Given the description of an element on the screen output the (x, y) to click on. 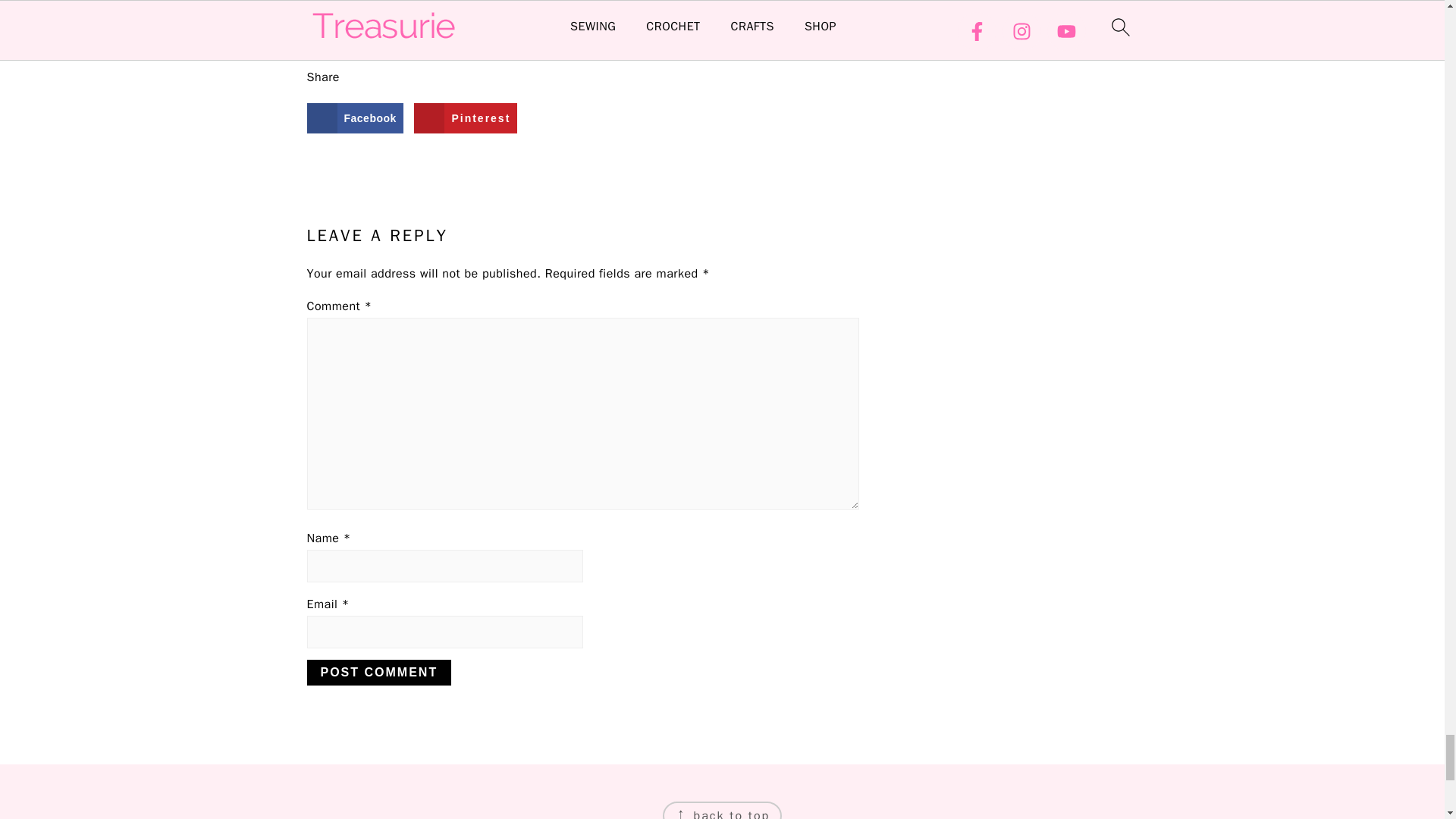
Save to Pinterest (464, 118)
Share on Facebook (354, 118)
Post Comment (378, 672)
